Given the description of an element on the screen output the (x, y) to click on. 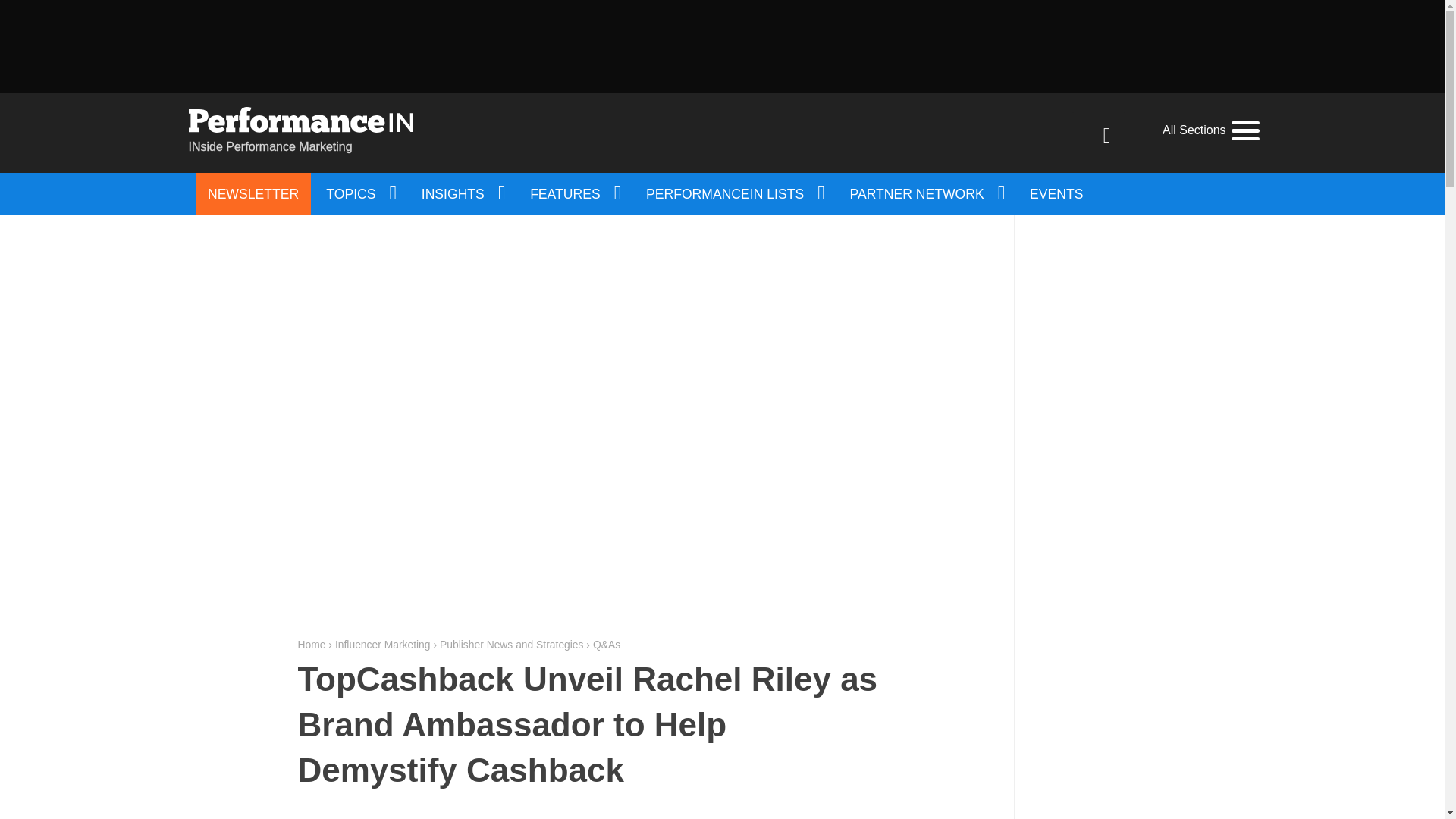
INSIGHTS (462, 193)
PERFORMANCEIN LISTS (733, 193)
FEATURES (574, 193)
All Sections (1210, 130)
NEWSLETTER (253, 193)
EVENTS (1055, 193)
PARTNER NETWORK (926, 193)
TOPICS (360, 193)
INside Performance Marketing (299, 131)
